Given the description of an element on the screen output the (x, y) to click on. 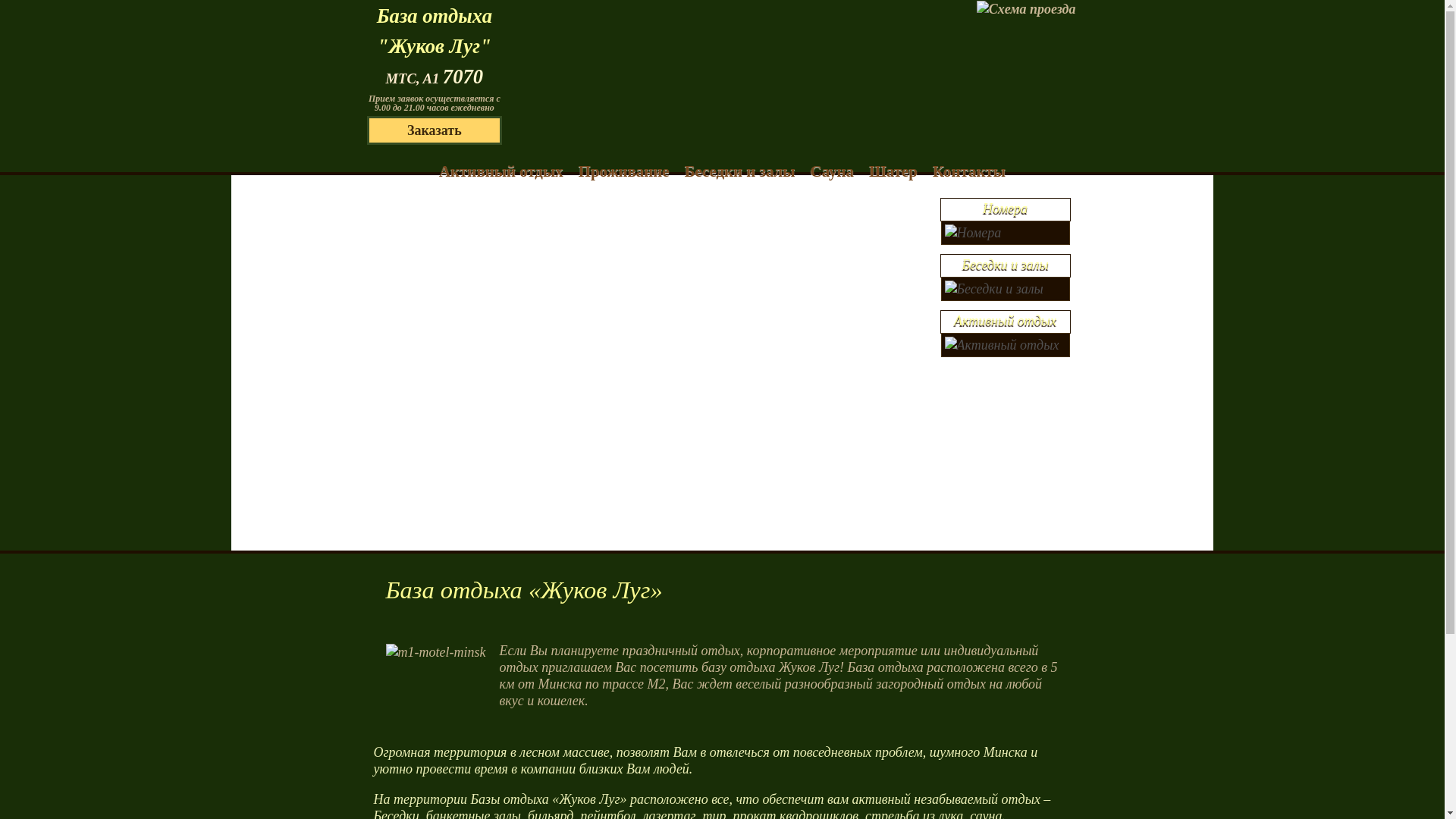
jukov.by Element type: hover (659, 62)
